Given the description of an element on the screen output the (x, y) to click on. 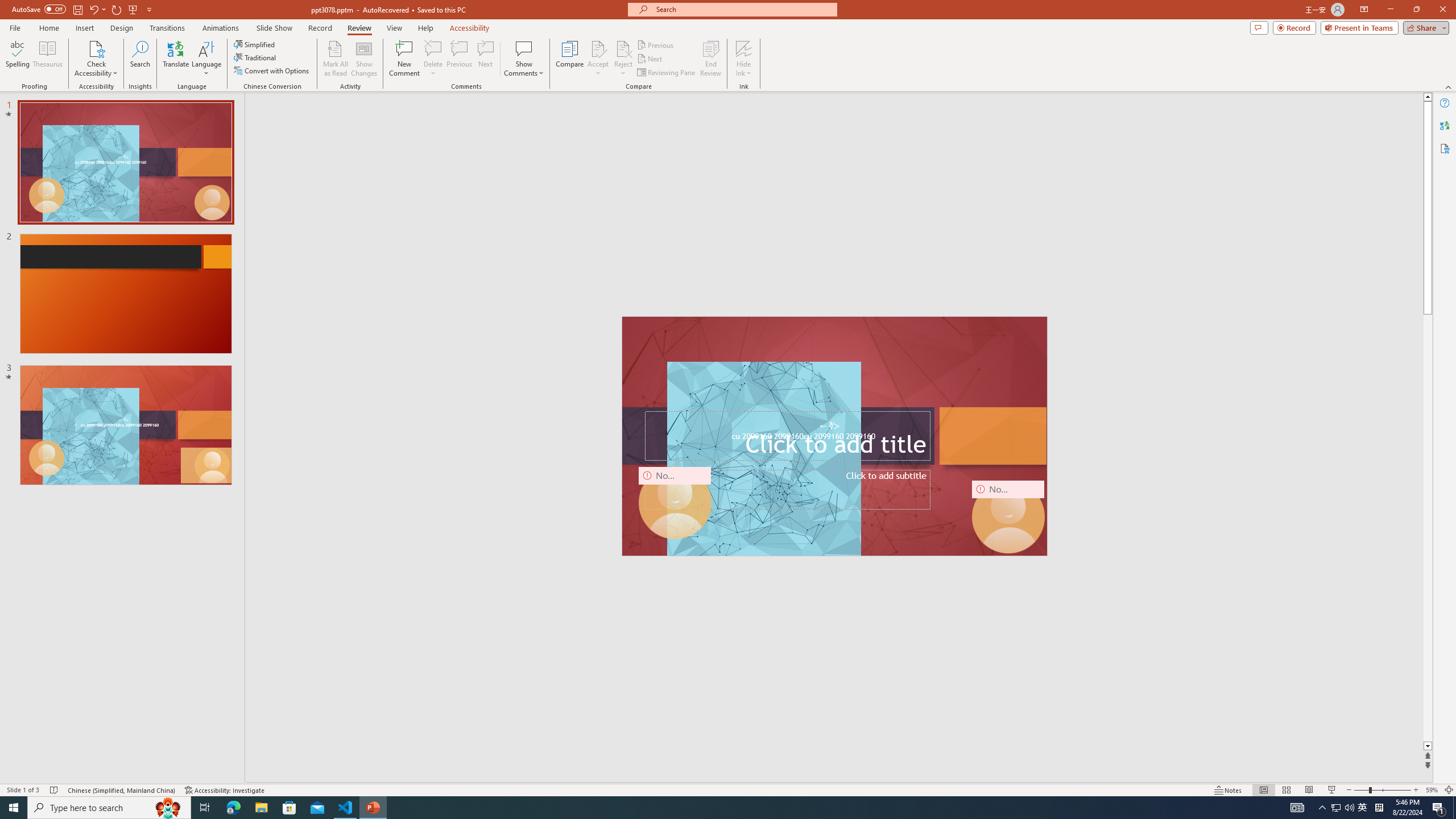
Translate (175, 58)
Traditional (255, 56)
Accept Change (598, 48)
